Given the description of an element on the screen output the (x, y) to click on. 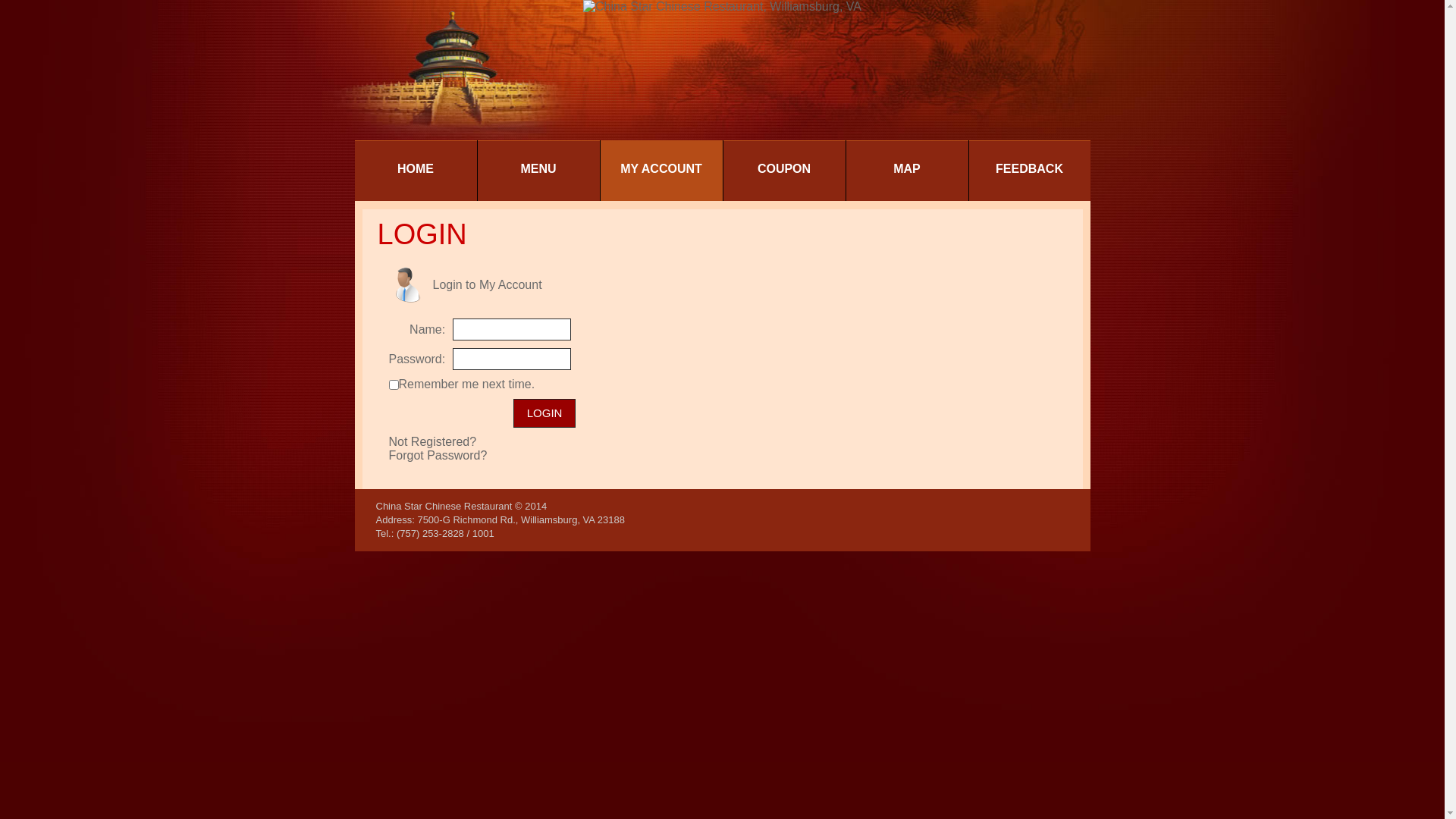
MENU Element type: text (538, 170)
Login Element type: text (544, 412)
MY ACCOUNT Element type: text (661, 170)
HOME Element type: text (415, 170)
Not Registered? Element type: text (432, 441)
MAP Element type: text (907, 170)
FEEDBACK Element type: text (1029, 170)
China Star Chinese Restaurant Element type: text (444, 505)
Forgot Password? Element type: text (437, 454)
COUPON Element type: text (784, 170)
